Given the description of an element on the screen output the (x, y) to click on. 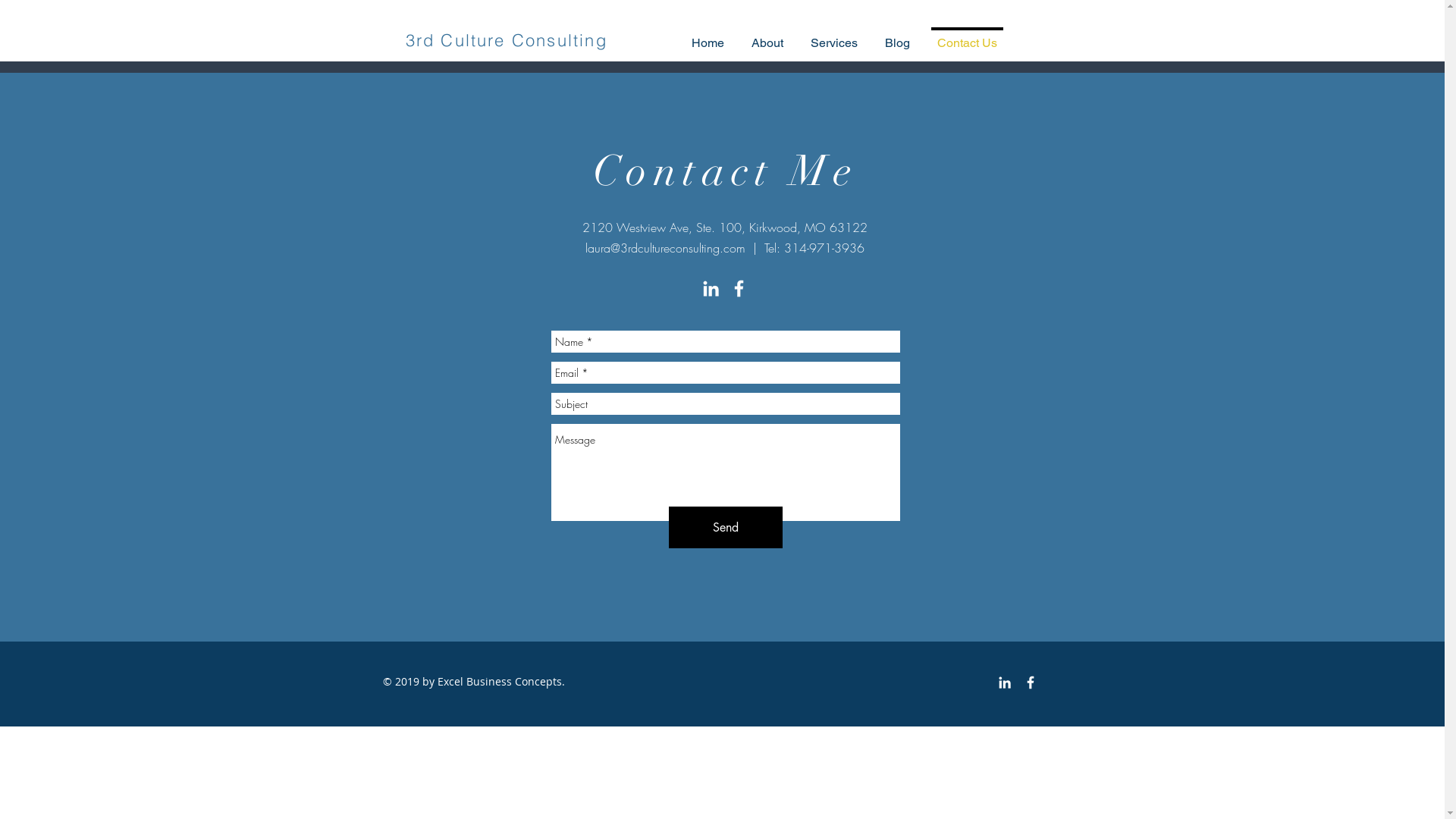
Contact Us Element type: text (966, 35)
Send Element type: text (725, 527)
Home Element type: text (707, 35)
Blog Element type: text (897, 35)
laura@3rdcultureconsulting.com Element type: text (665, 247)
3rd Culture Consulting Element type: text (505, 39)
Services Element type: text (834, 35)
